Given the description of an element on the screen output the (x, y) to click on. 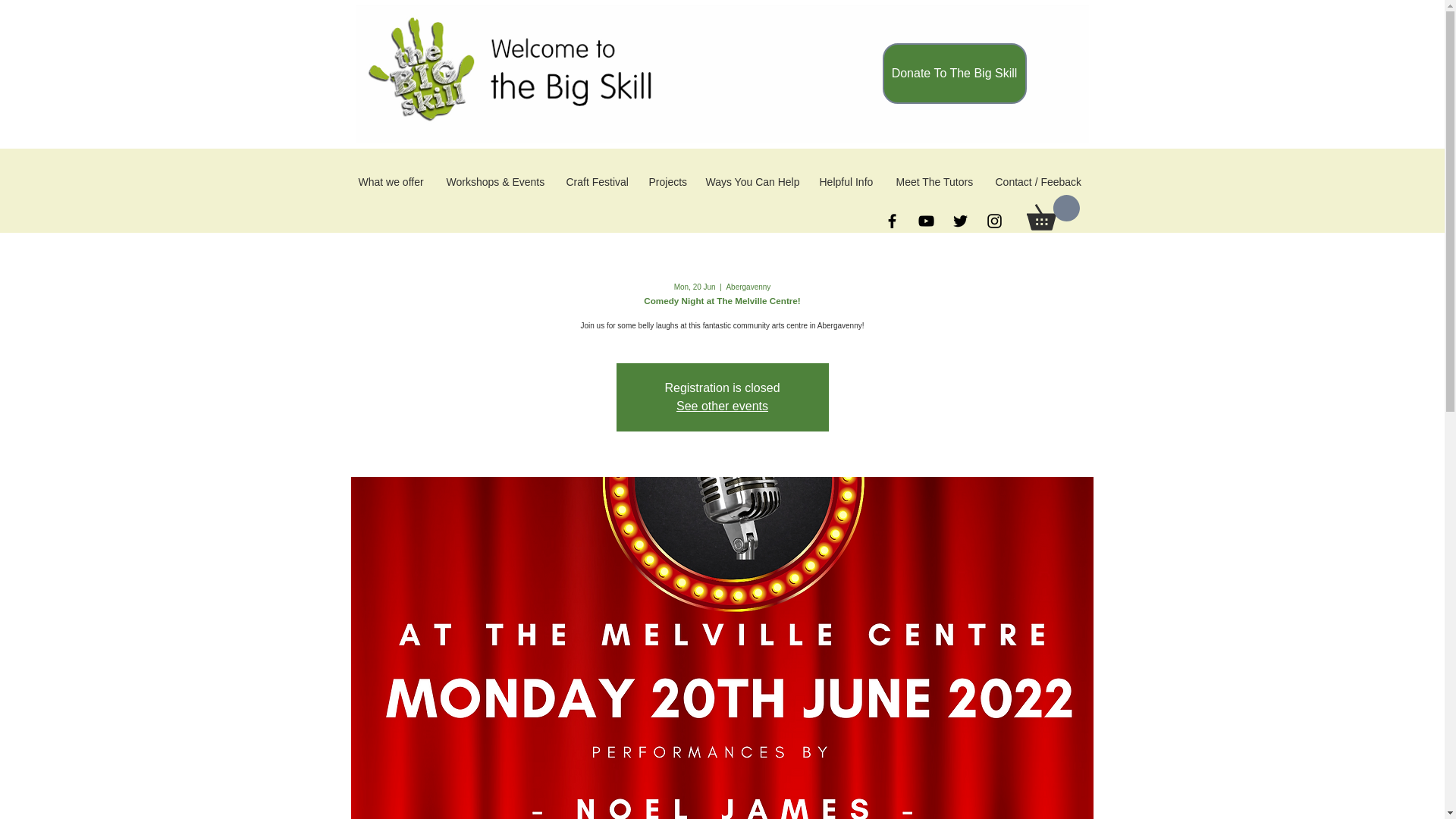
Projects (670, 182)
Craft Festival (598, 182)
What we offer (394, 182)
See other events (722, 405)
Meet The Tutors (938, 182)
Ways You Can Help (753, 182)
Donate To The Big Skill (954, 73)
Helpful Info (849, 182)
